Given the description of an element on the screen output the (x, y) to click on. 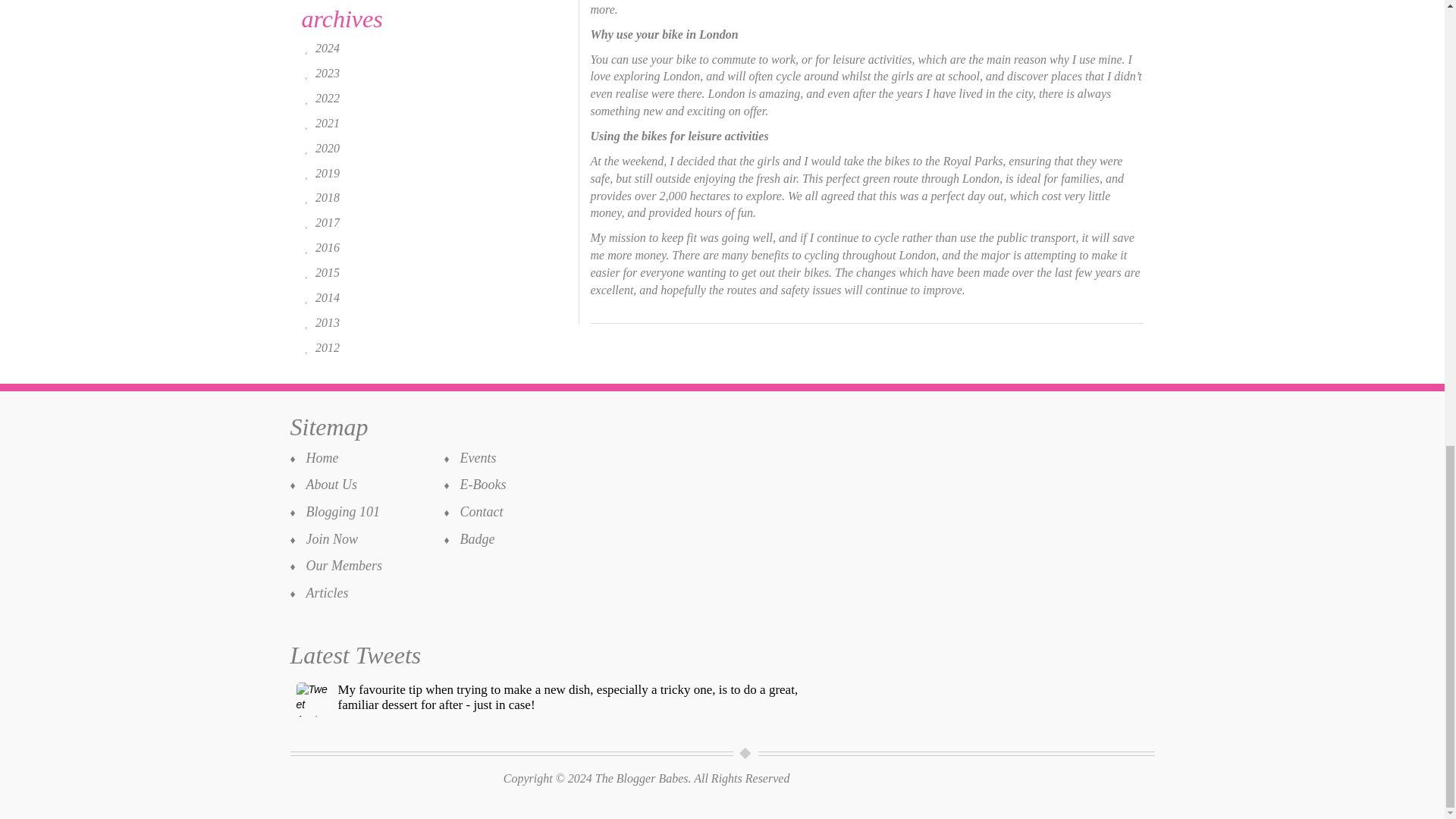
2023 (327, 72)
2024 (327, 47)
